Given the description of an element on the screen output the (x, y) to click on. 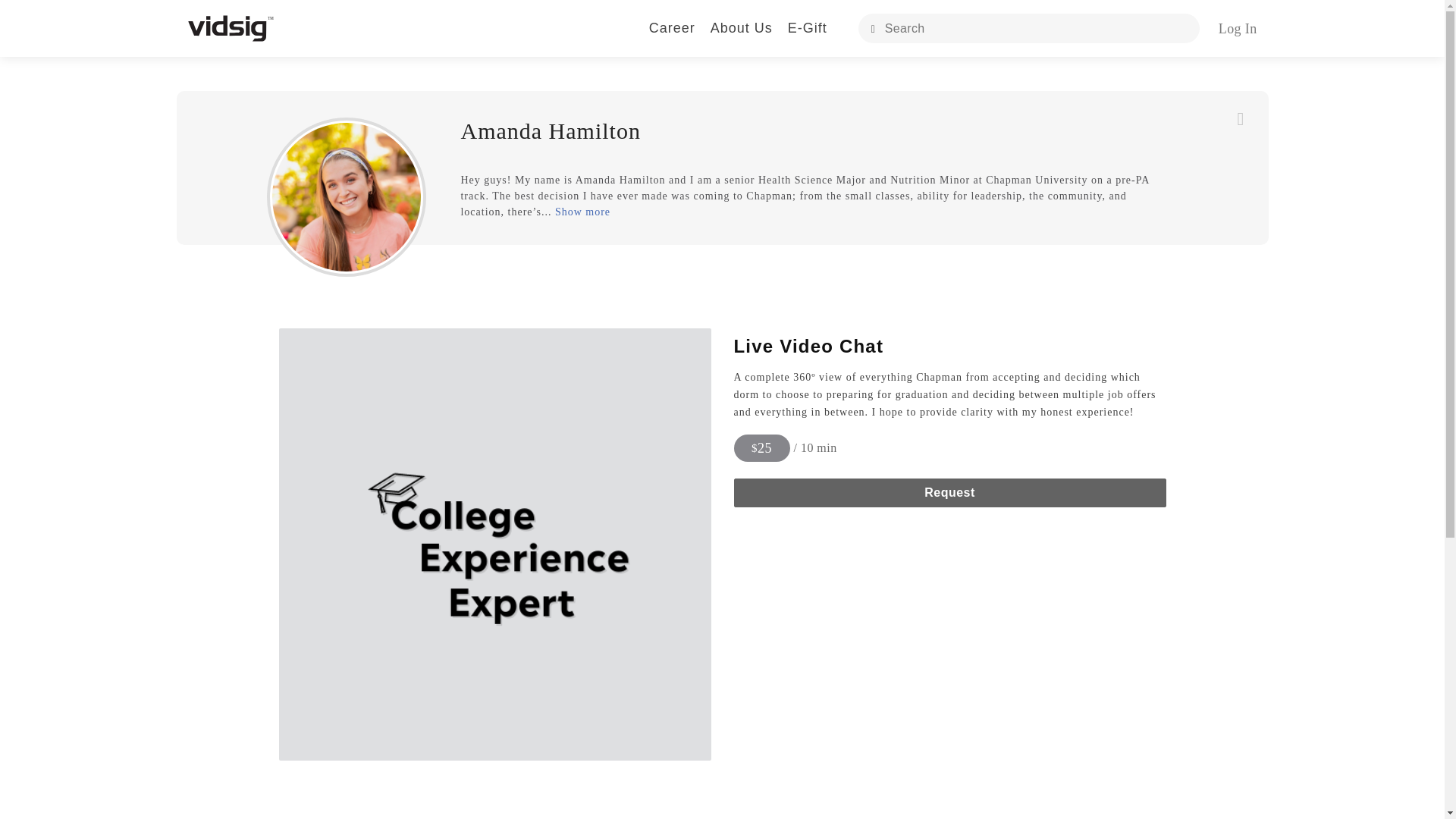
Career (672, 28)
Request (949, 492)
Log In (1237, 28)
E-Gift (807, 28)
About Us (741, 28)
